Given the description of an element on the screen output the (x, y) to click on. 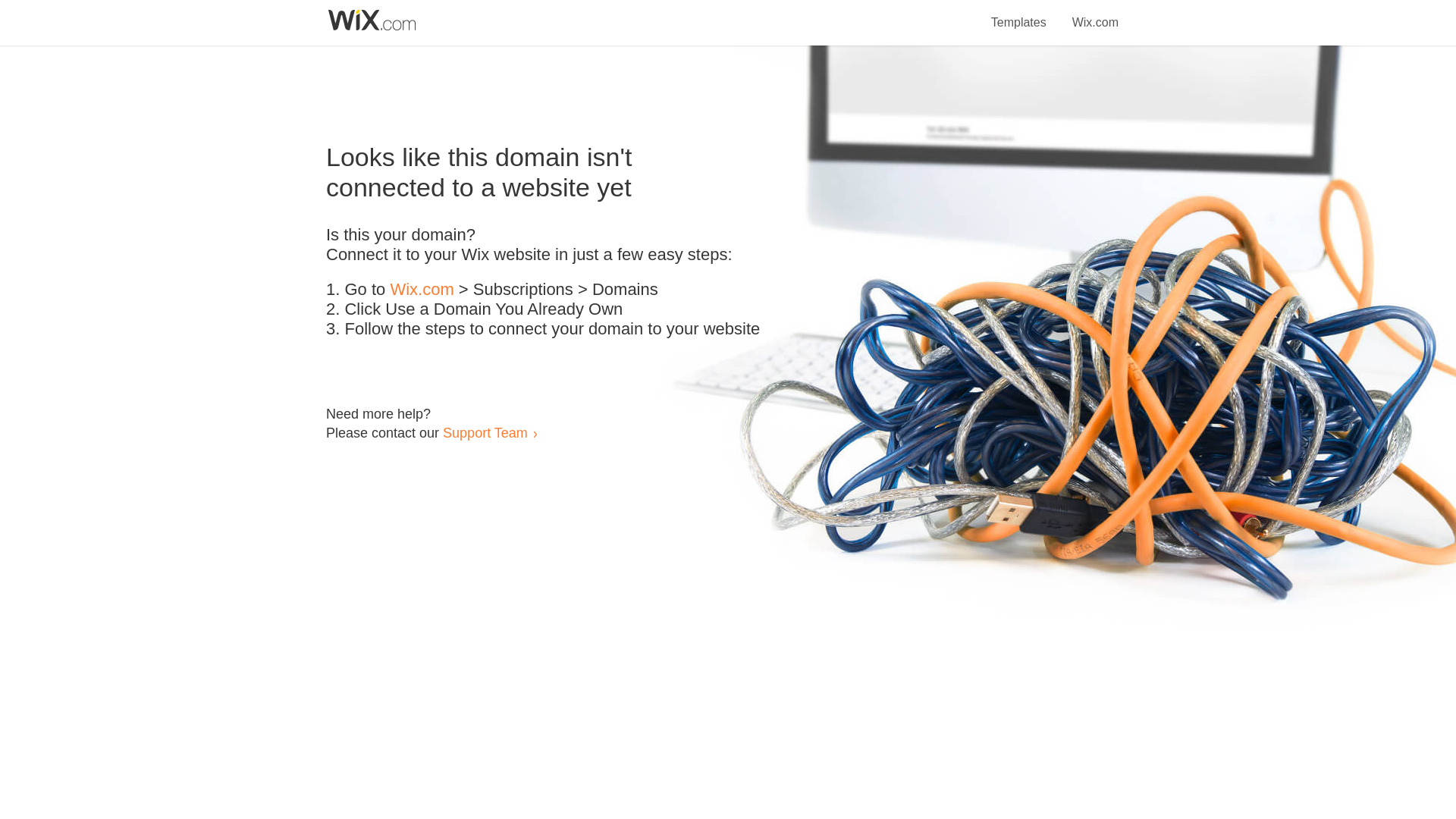
Wix.com (421, 289)
Wix.com (1095, 14)
Templates (1018, 14)
Support Team (484, 432)
